Given the description of an element on the screen output the (x, y) to click on. 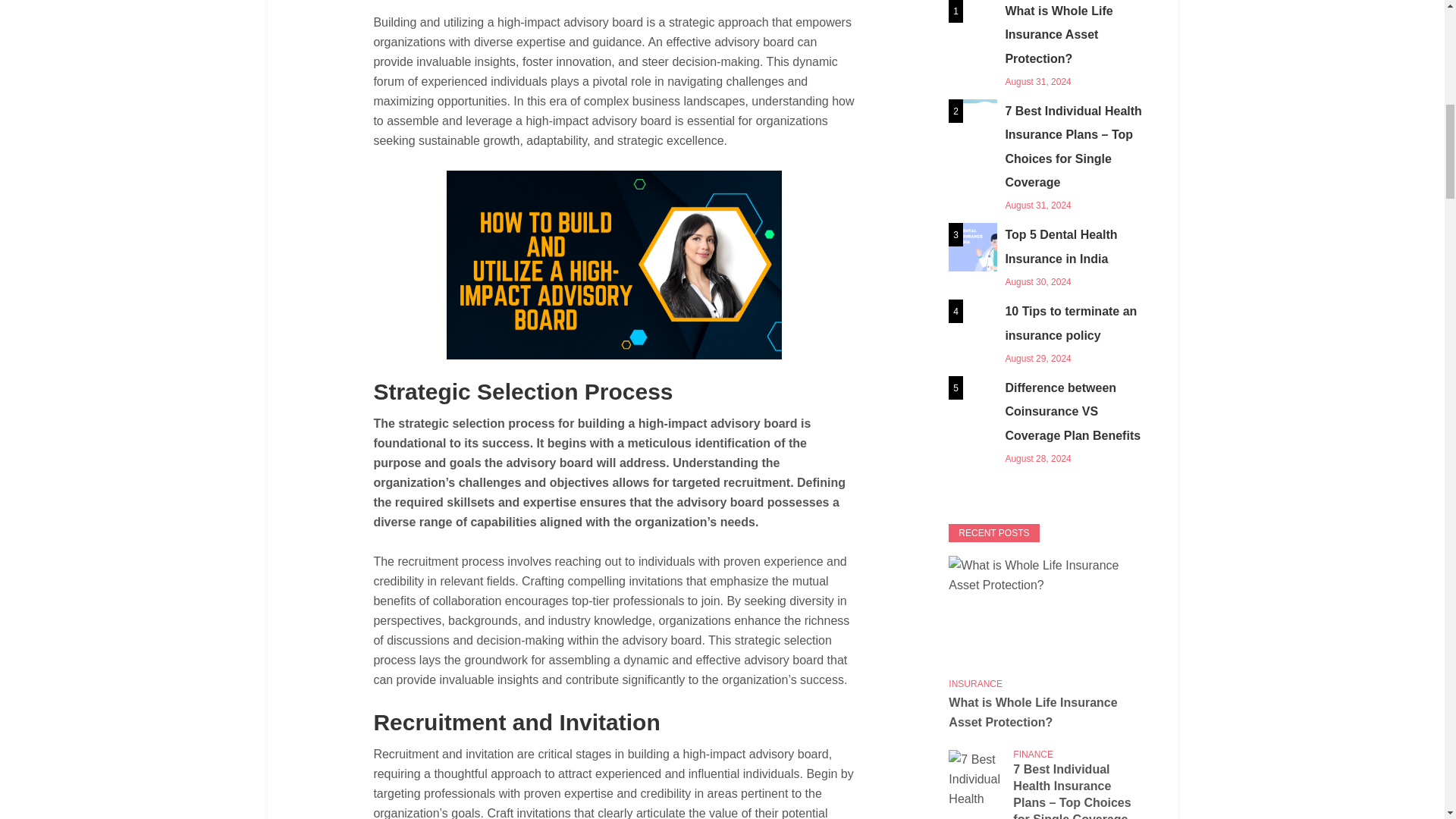
Difference between Coinsurance VS Coverage Plan Benefits (1045, 421)
10 Tips to terminate an insurance policy (1045, 333)
Top 5 Dental Health Insurance in India (1045, 256)
What is Whole Life Insurance Asset Protection? (1045, 45)
